Given the description of an element on the screen output the (x, y) to click on. 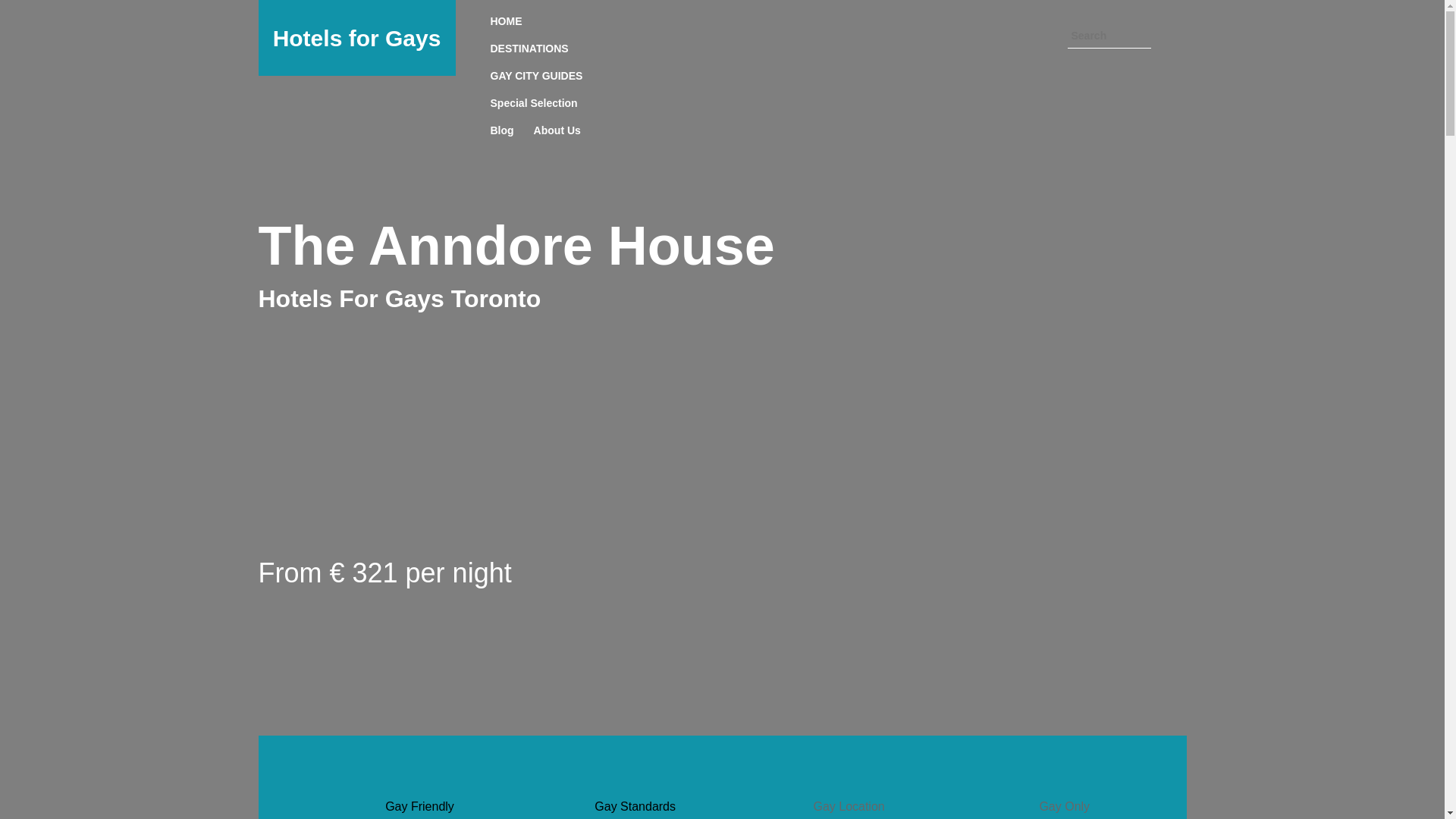
HOME (505, 21)
DESTINATIONS (528, 48)
Hotels for Gays (355, 38)
